Given the description of an element on the screen output the (x, y) to click on. 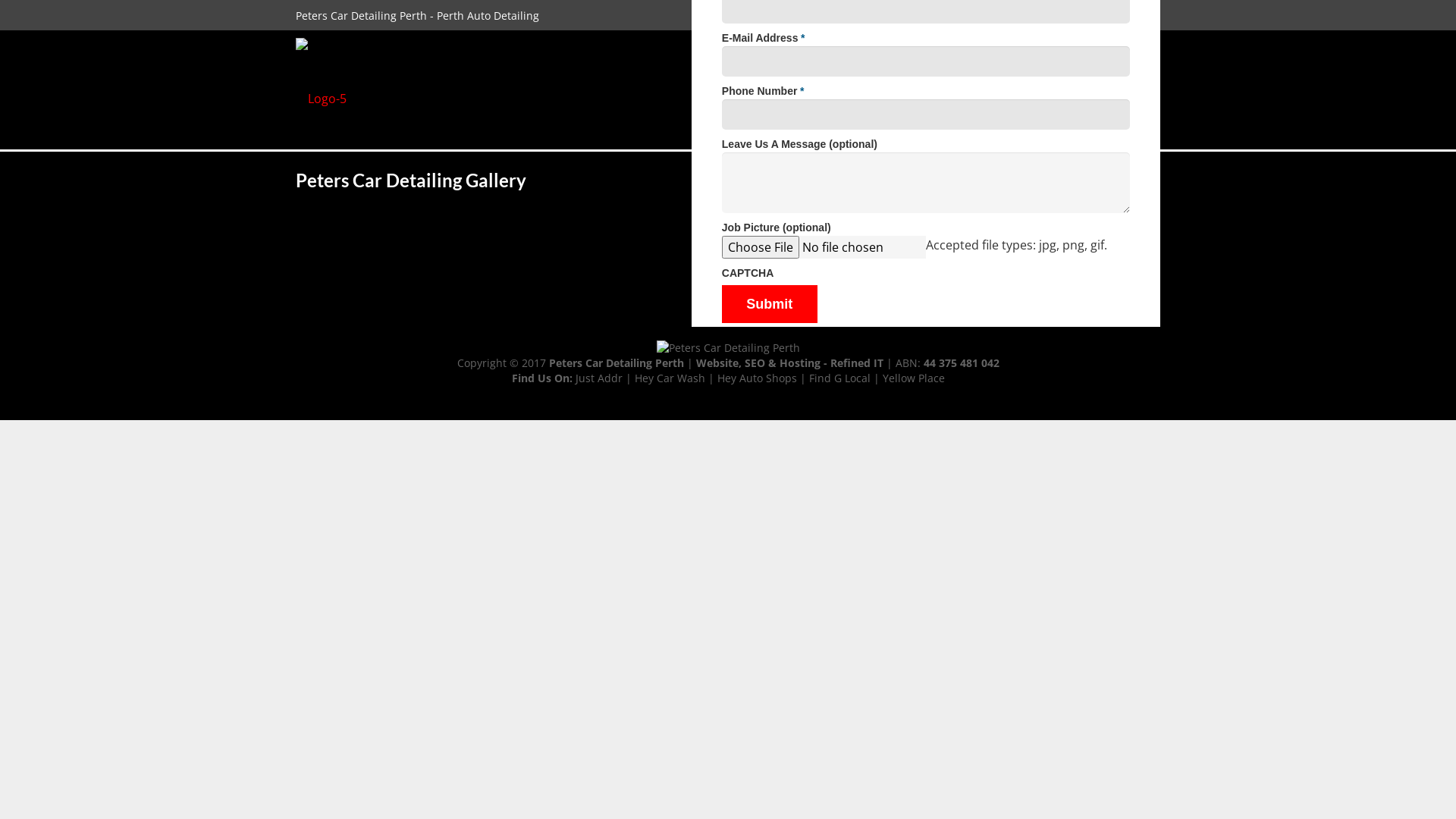
peterscardetailing@gmail.com Element type: text (985, 14)
0424 549 808 Element type: text (848, 14)
Submit Element type: text (769, 304)
Just Addr Element type: text (597, 377)
Home Element type: text (1001, 180)
44 375 481 042 Element type: text (961, 362)
Website, SEO & Hosting - Refined IT Element type: text (789, 362)
Find G Local Element type: text (838, 377)
Yellow Place Element type: text (913, 377)
Hey Auto Shops Element type: text (757, 377)
Peters Car Detailing Perth Element type: text (616, 362)
Hey Car Wash Element type: text (668, 377)
